Given the description of an element on the screen output the (x, y) to click on. 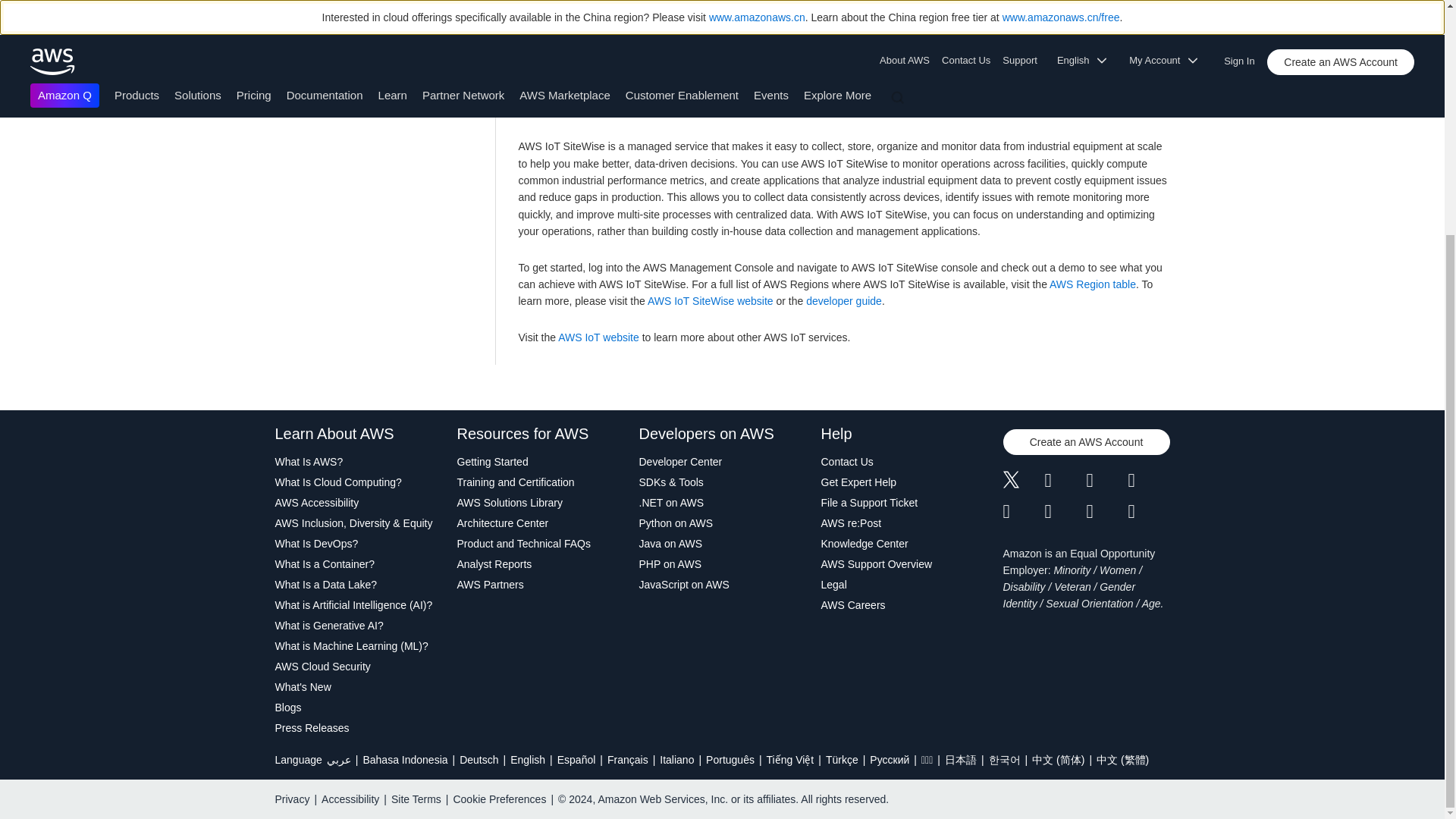
Press Releases (358, 727)
Facebook (1065, 481)
Twitch (1023, 511)
Linkedin (1106, 481)
YouTube (1065, 511)
Podcast (1106, 511)
Instagram (1149, 481)
Twitter (1023, 481)
